Given the description of an element on the screen output the (x, y) to click on. 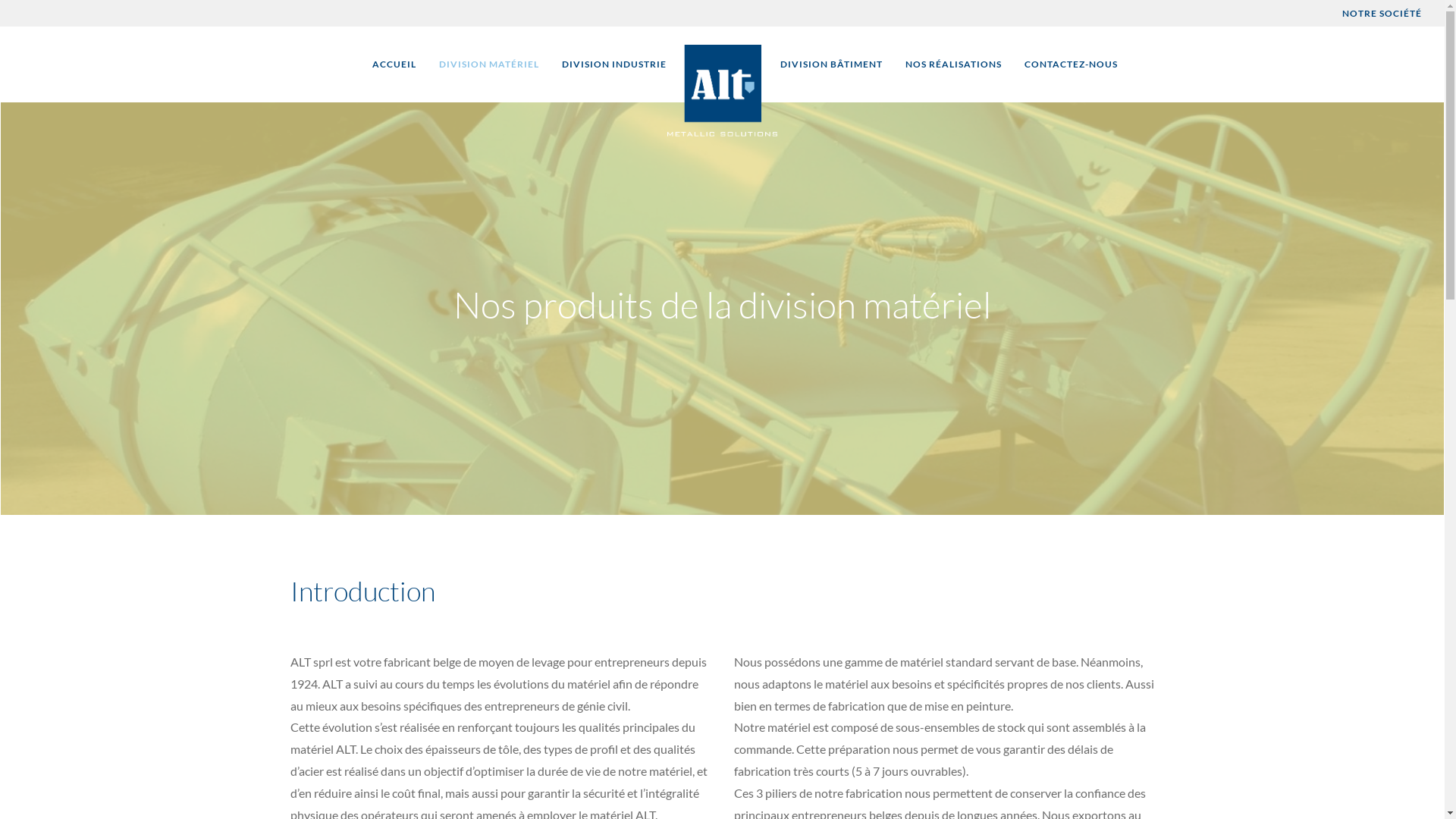
ACCUEIL Element type: text (393, 64)
DIVISION INDUSTRIE Element type: text (613, 64)
CONTACTEZ-NOUS Element type: text (1071, 64)
ALT Metallic Solutions Element type: hover (722, 90)
Aller au contenu principal Element type: text (0, 64)
